Given the description of an element on the screen output the (x, y) to click on. 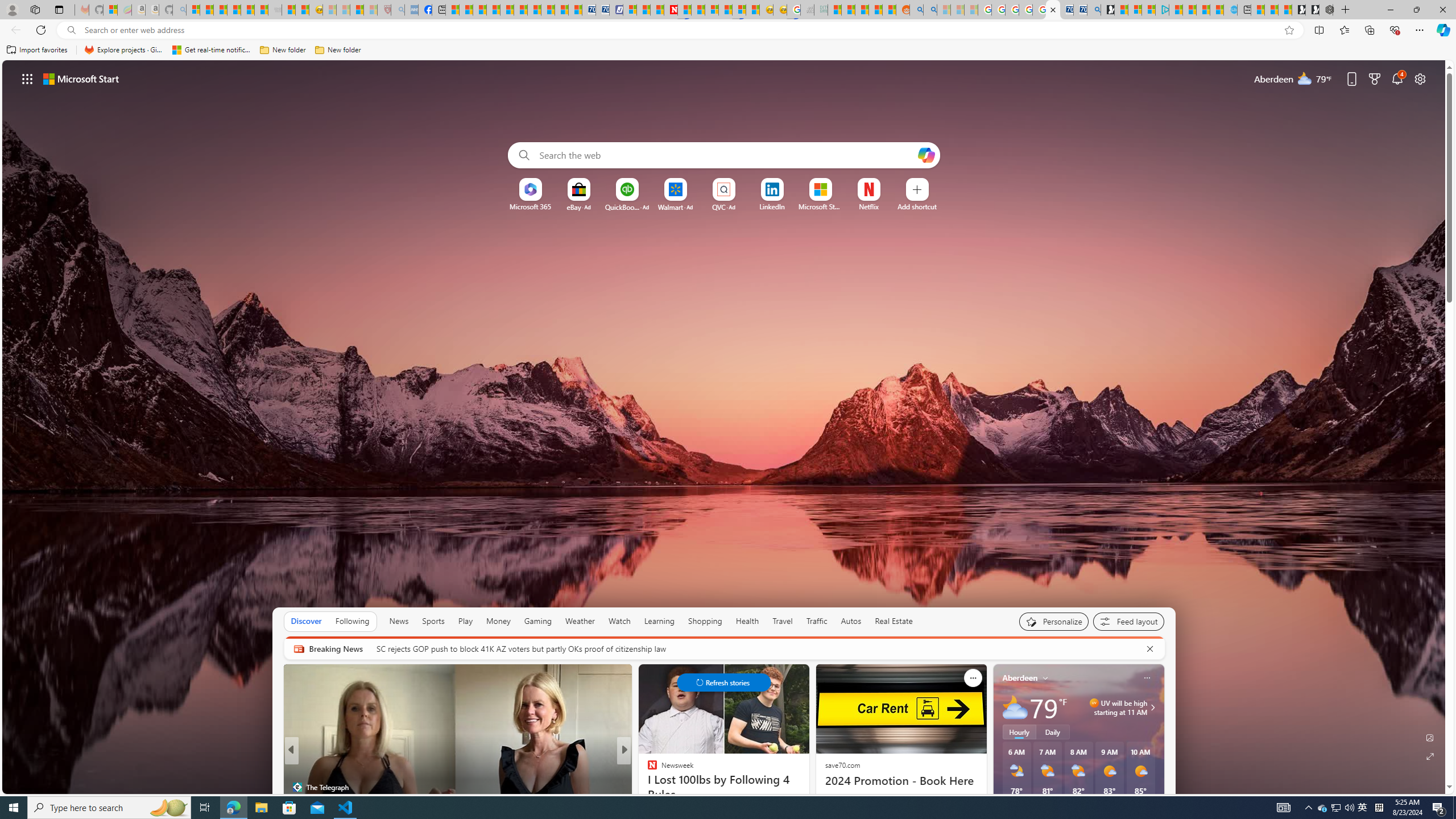
Microsoft Start - Sleeping (943, 9)
Travel (782, 621)
Real Estate (893, 621)
Microsoft account | Privacy (1148, 9)
Class: weather-arrow-glyph (1152, 707)
Shopping (705, 621)
